Given the description of an element on the screen output the (x, y) to click on. 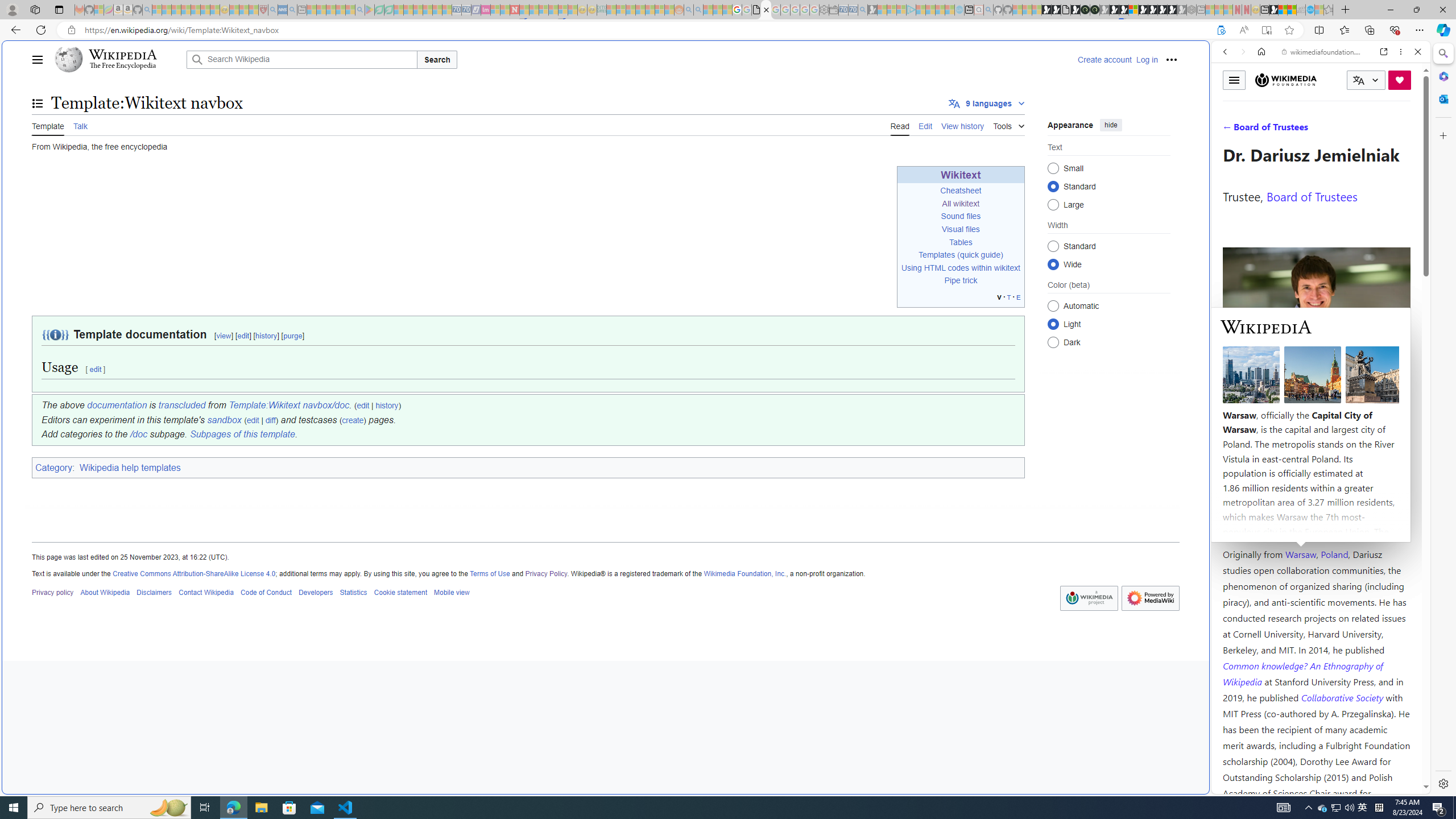
Terms of Use (488, 573)
wikimediafoundation.org (1323, 51)
Statistics (352, 591)
Privacy policy (53, 592)
Personal tools (1171, 59)
